Given the description of an element on the screen output the (x, y) to click on. 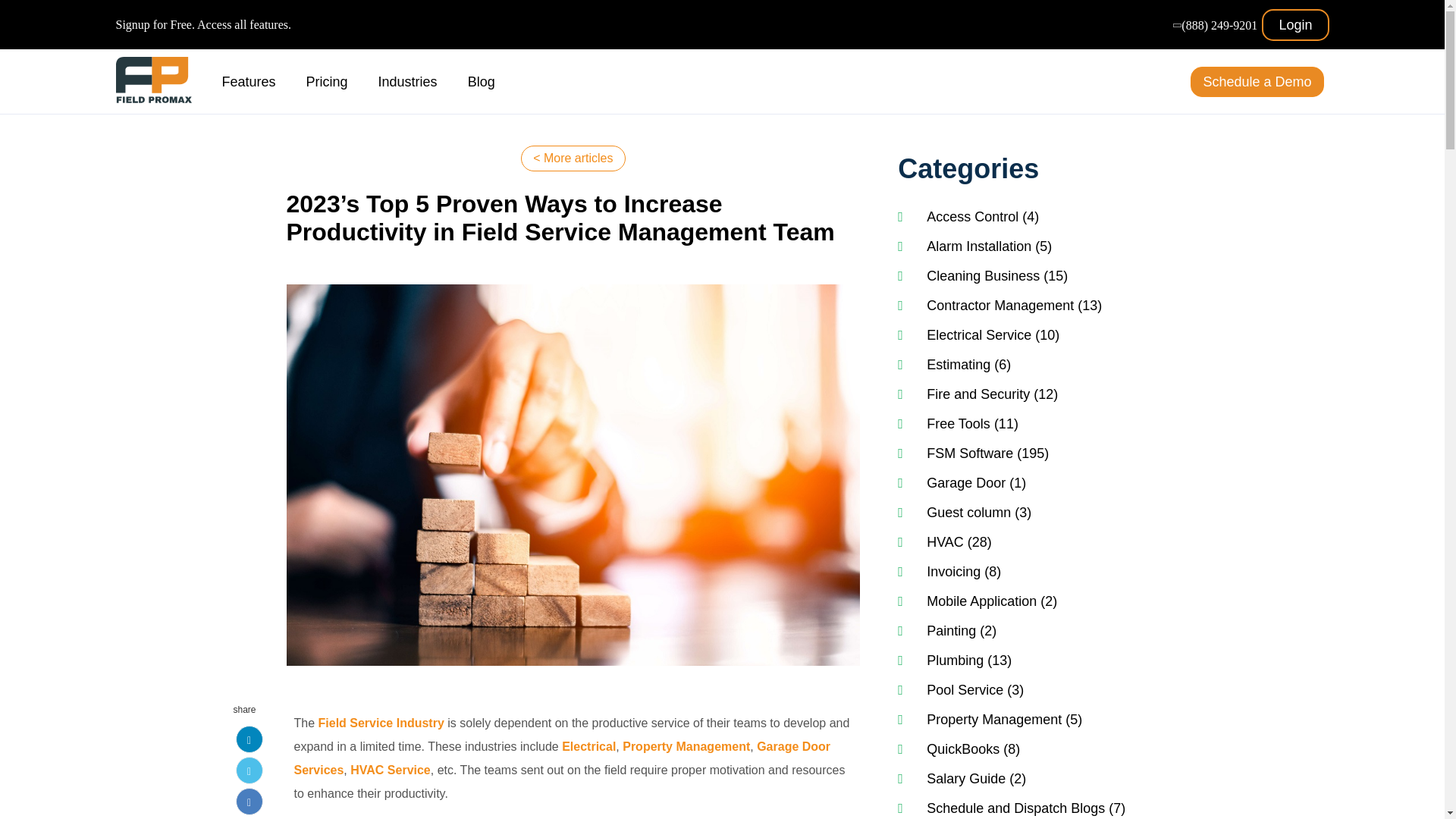
Property Management (686, 746)
Features (248, 80)
Login (1294, 24)
HVAC Service (390, 769)
Field Promax (152, 79)
Field Service Industry (381, 722)
Electrical (588, 746)
Garage Door Services (562, 758)
Schedule a Demo (1257, 81)
Industries (408, 80)
Pricing (326, 80)
